Given the description of an element on the screen output the (x, y) to click on. 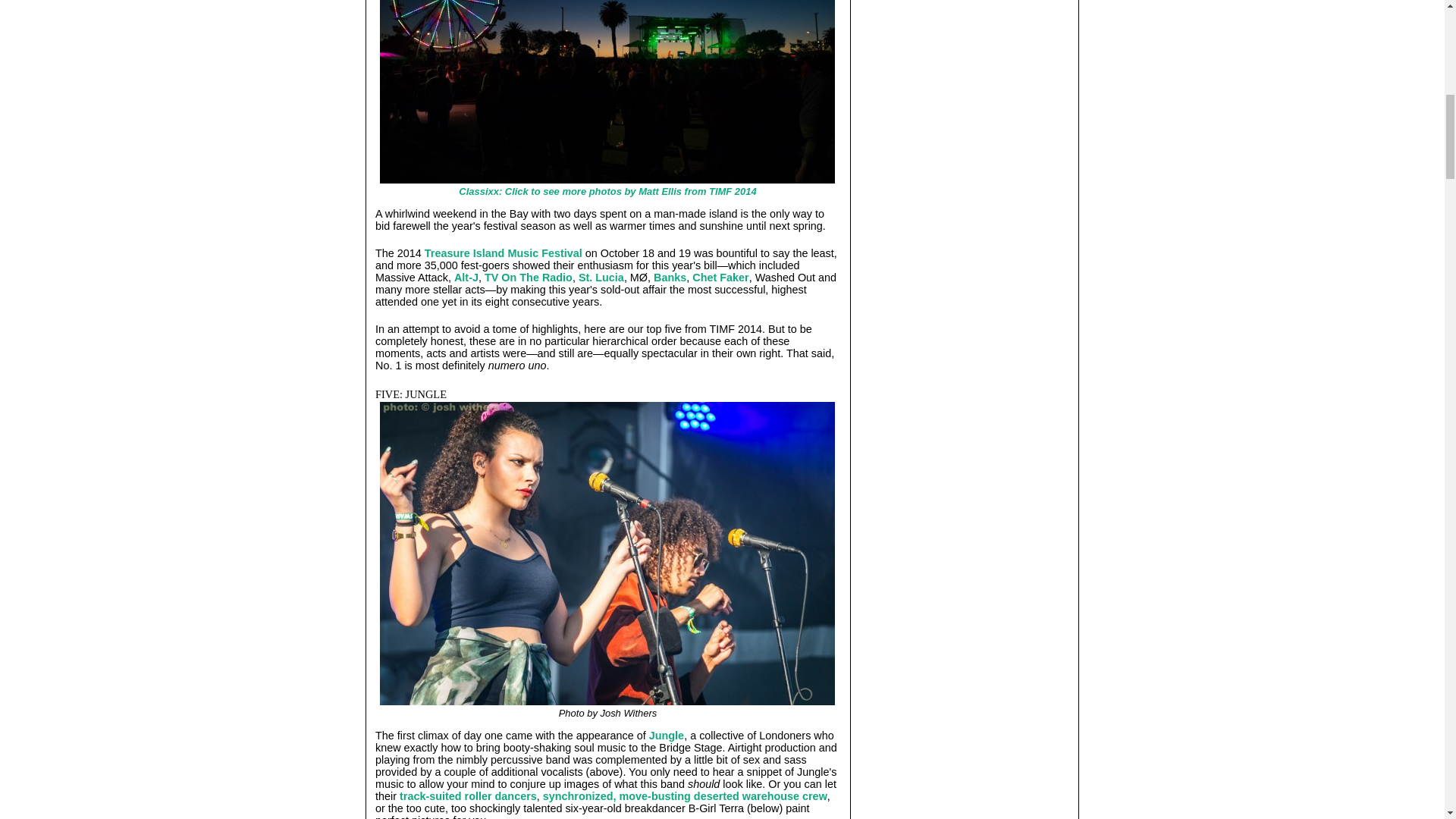
TV On The Radio (528, 277)
Alt-J (466, 277)
St. Lucia (601, 277)
Jungle (666, 735)
Treasure Island Music Festival (503, 253)
synchronized, move-busting deserted warehouse crew (685, 796)
3rd party ad content (964, 604)
Chet Faker (720, 277)
Banks (669, 277)
3rd party ad content (964, 189)
track-suited roller dancers (467, 796)
